Given the description of an element on the screen output the (x, y) to click on. 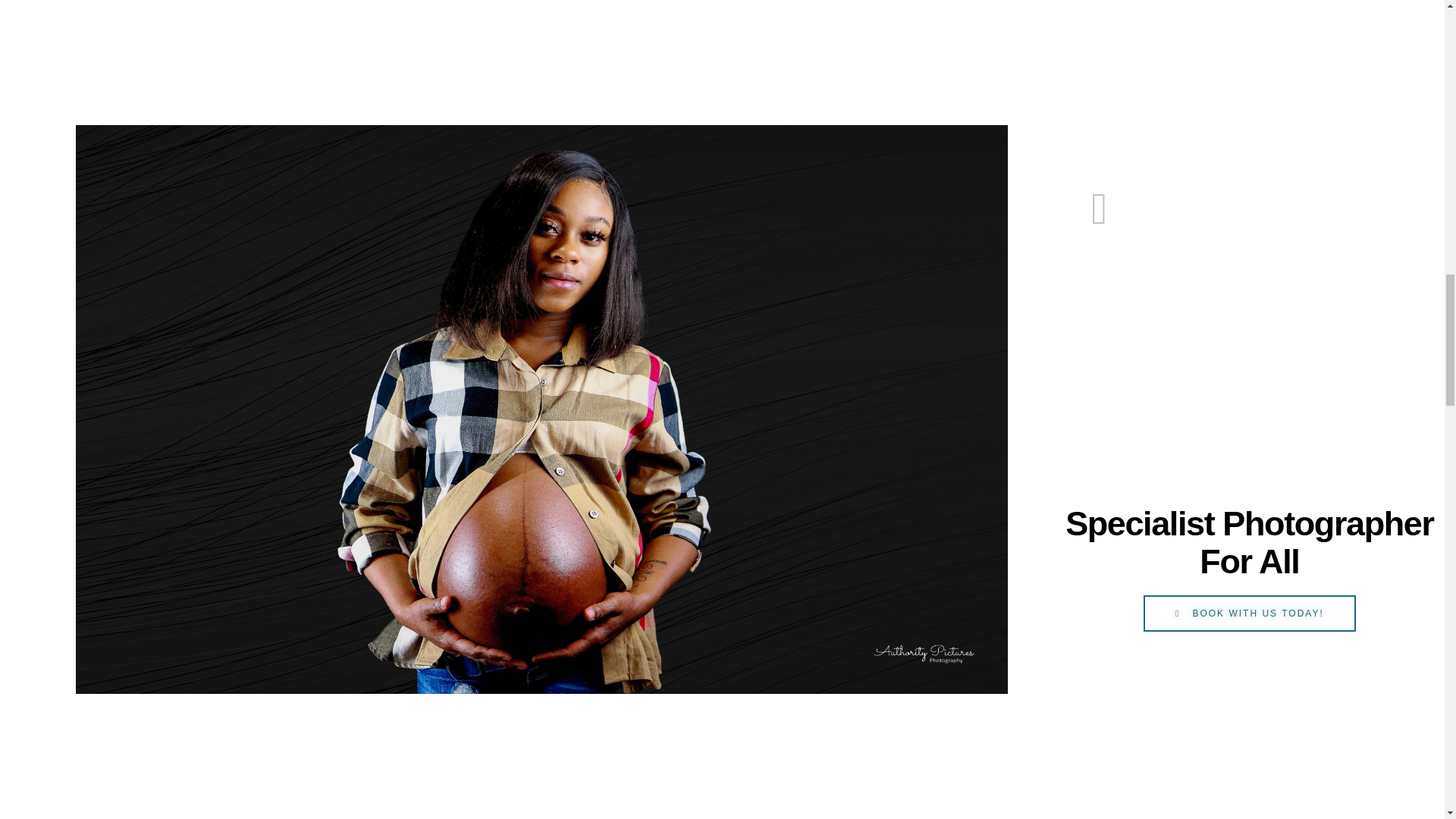
BOOK WITH US TODAY! (1248, 613)
